Given the description of an element on the screen output the (x, y) to click on. 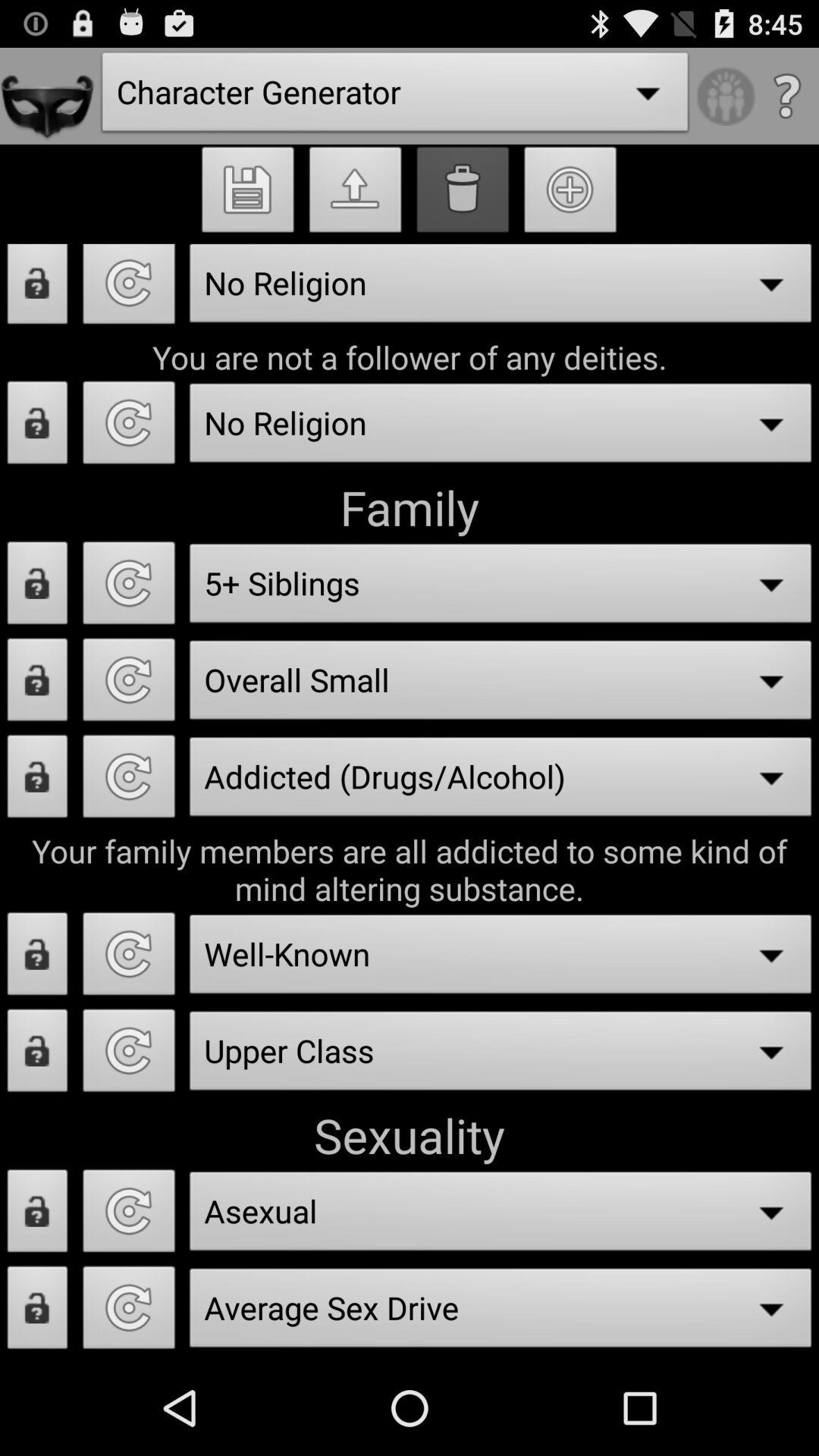
lock class option (37, 1054)
